Given the description of an element on the screen output the (x, y) to click on. 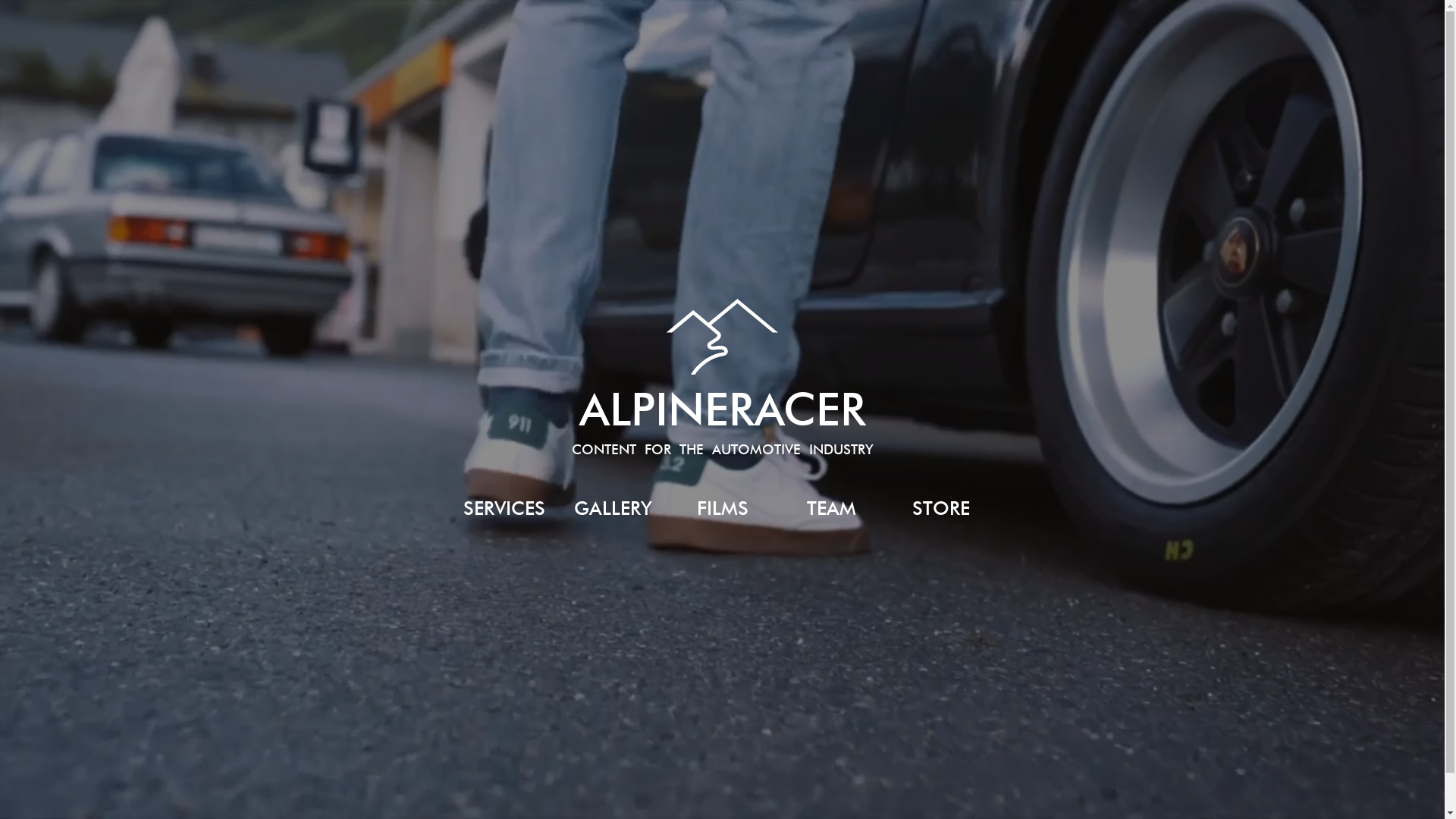
FILMS Element type: text (721, 507)
STORE Element type: text (939, 507)
TEAM Element type: text (831, 507)
SERVICES Element type: text (503, 507)
GALLERY Element type: text (612, 507)
